Given the description of an element on the screen output the (x, y) to click on. 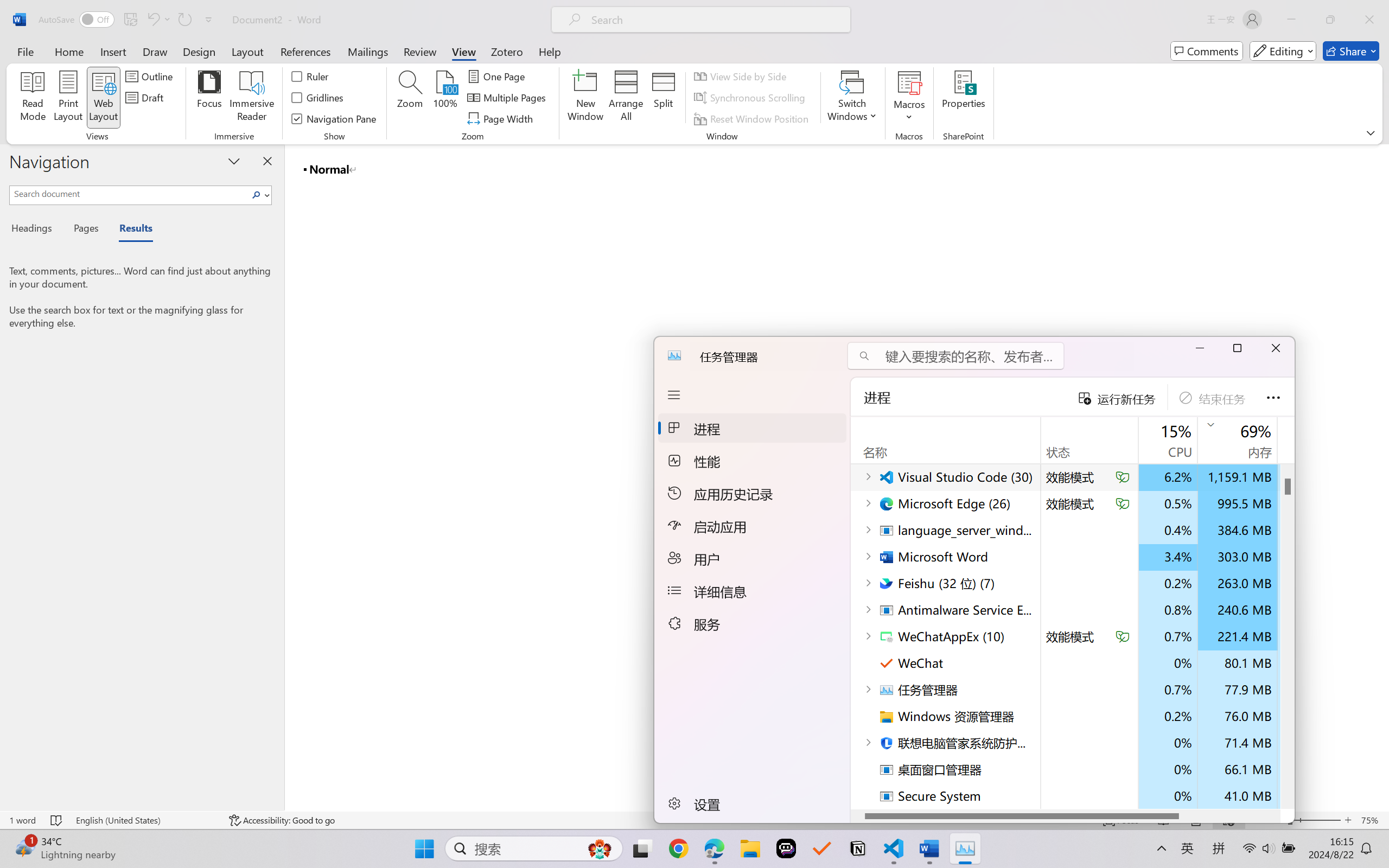
Spelling and Grammar Check No Errors (56, 819)
Task Pane Options (233, 161)
One Page (497, 75)
